Given the description of an element on the screen output the (x, y) to click on. 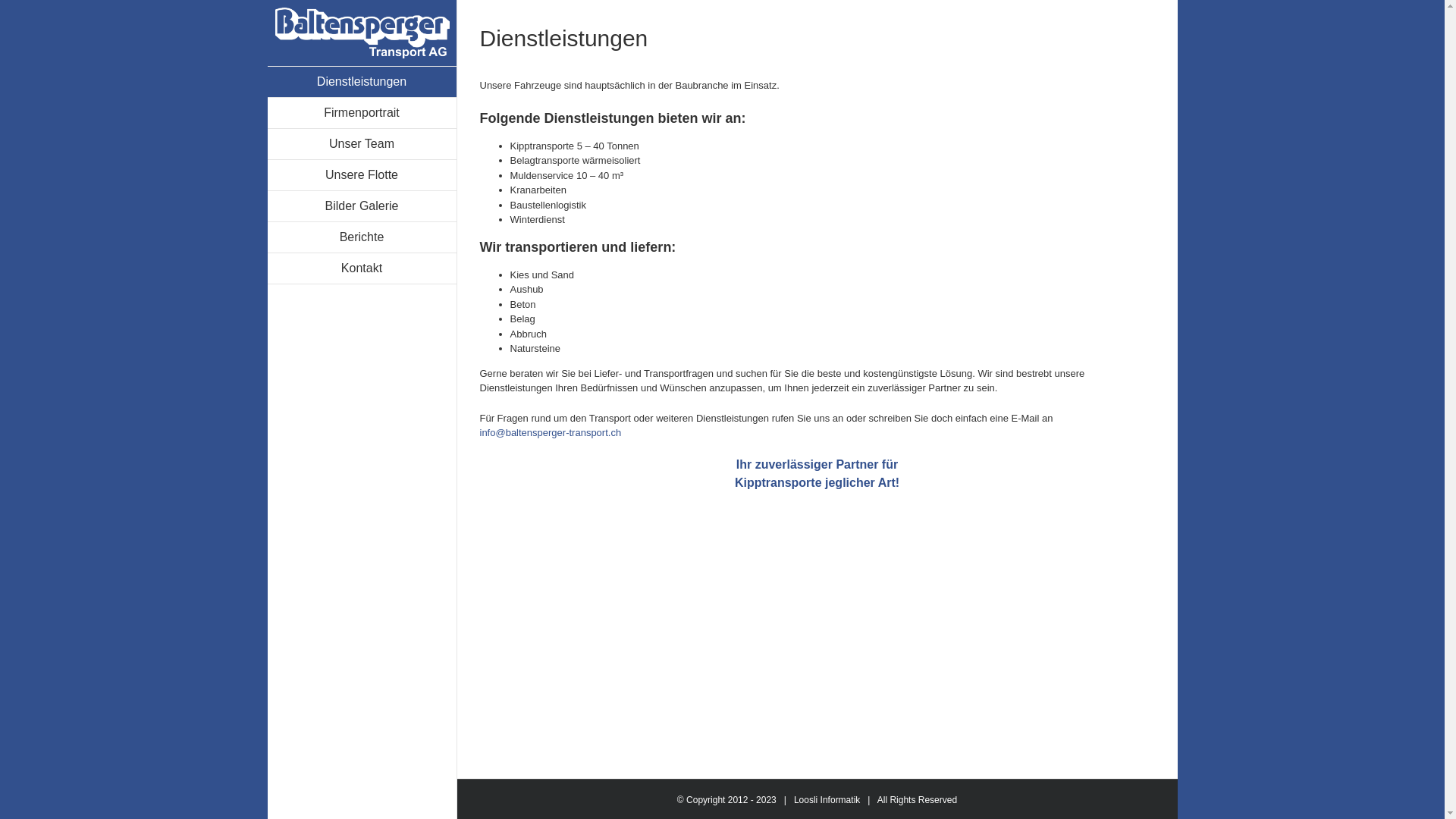
Kontakt Element type: text (360, 268)
Bilder Galerie Element type: text (360, 206)
Berichte Element type: text (360, 237)
Firmenportrait Element type: text (360, 112)
Loosli Informatik Element type: text (826, 799)
Unser Team Element type: text (360, 144)
Dienstleistungen Element type: text (360, 81)
info@baltensperger-transport.ch Element type: text (550, 432)
Unsere Flotte Element type: text (360, 175)
